Given the description of an element on the screen output the (x, y) to click on. 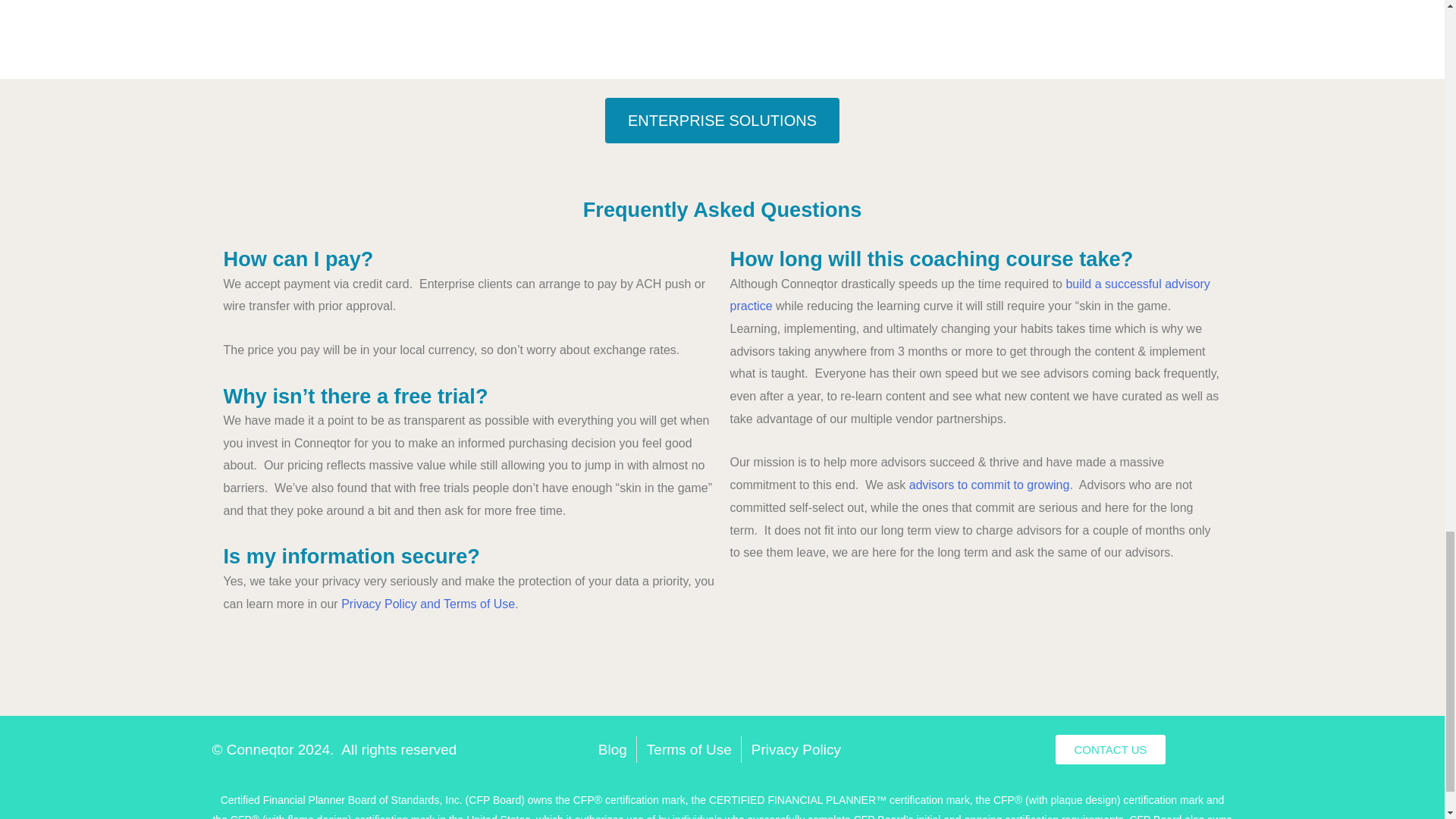
Privacy Policy and Terms of Use (427, 603)
ENTERPRISE SOLUTIONS (722, 120)
CONTACT US (1109, 749)
ebook-image-1 (489, 12)
Blog (612, 749)
Terms of Use (689, 749)
advisors to commit to growing (989, 484)
build a successful advisory practice (969, 294)
Privacy Policy (796, 749)
